Given the description of an element on the screen output the (x, y) to click on. 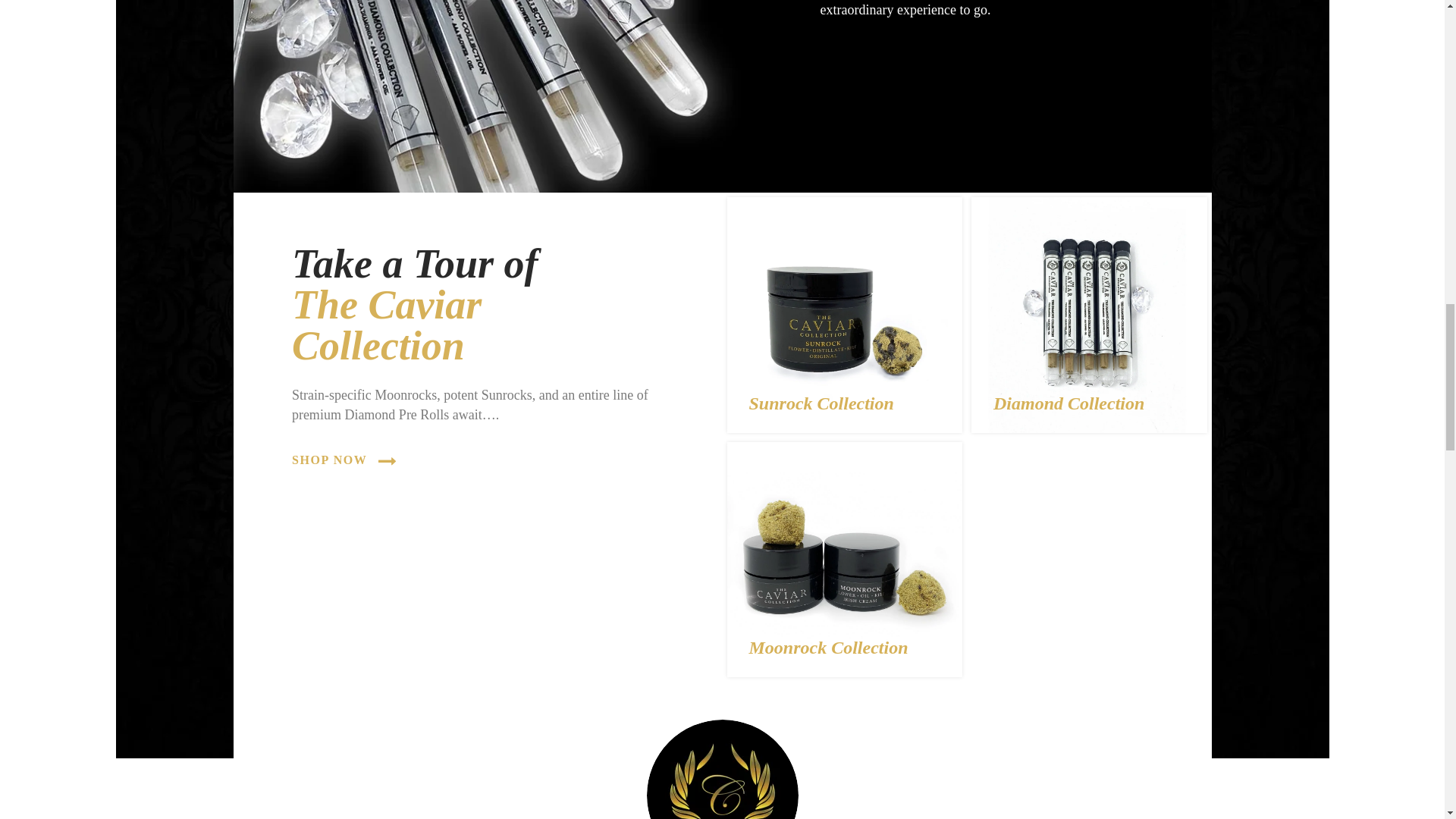
CaviarCGoldBlack (721, 769)
